Given the description of an element on the screen output the (x, y) to click on. 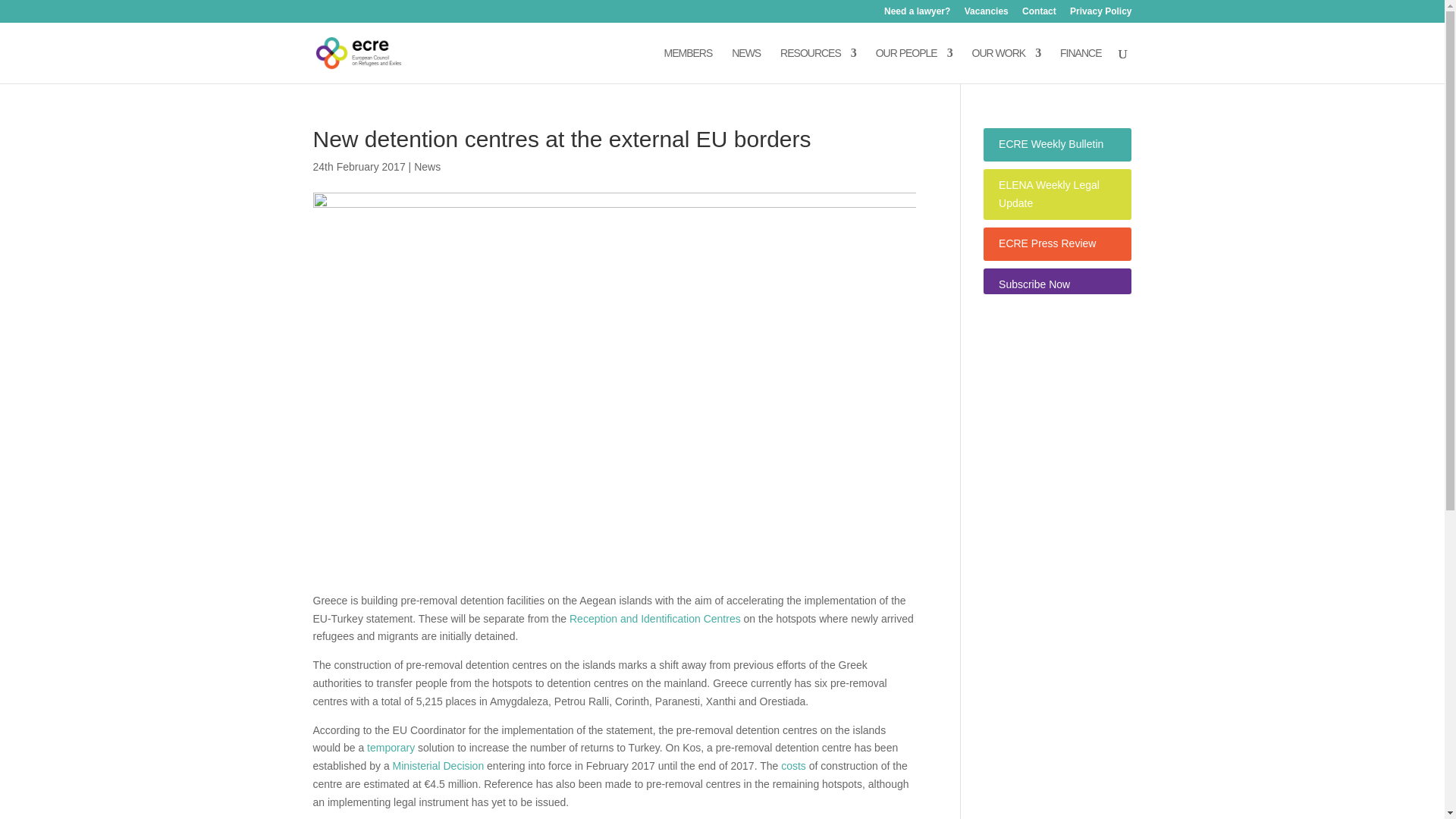
OUR WORK (1006, 65)
News (427, 166)
OUR PEOPLE (914, 65)
Need a lawyer? (916, 14)
ELENA Weekly Legal Update (1048, 194)
costs (793, 766)
Contact (1039, 14)
Subscribe Now (1034, 284)
Ministerial Decision (438, 766)
Reception and Identification Centres (655, 618)
